Given the description of an element on the screen output the (x, y) to click on. 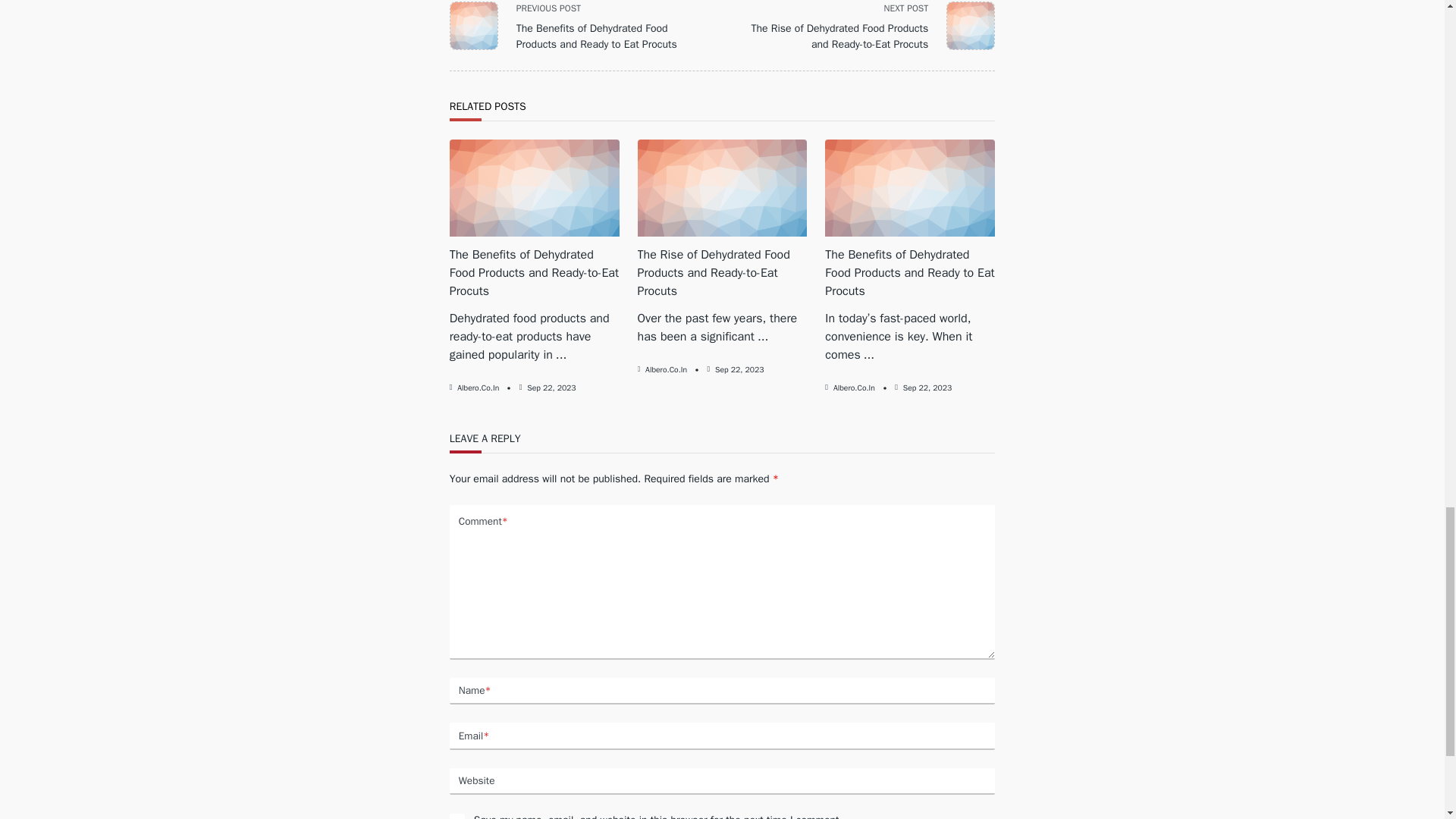
Albero.Co.In (478, 388)
yes (456, 816)
Sep 22, 2023 (551, 388)
